Given the description of an element on the screen output the (x, y) to click on. 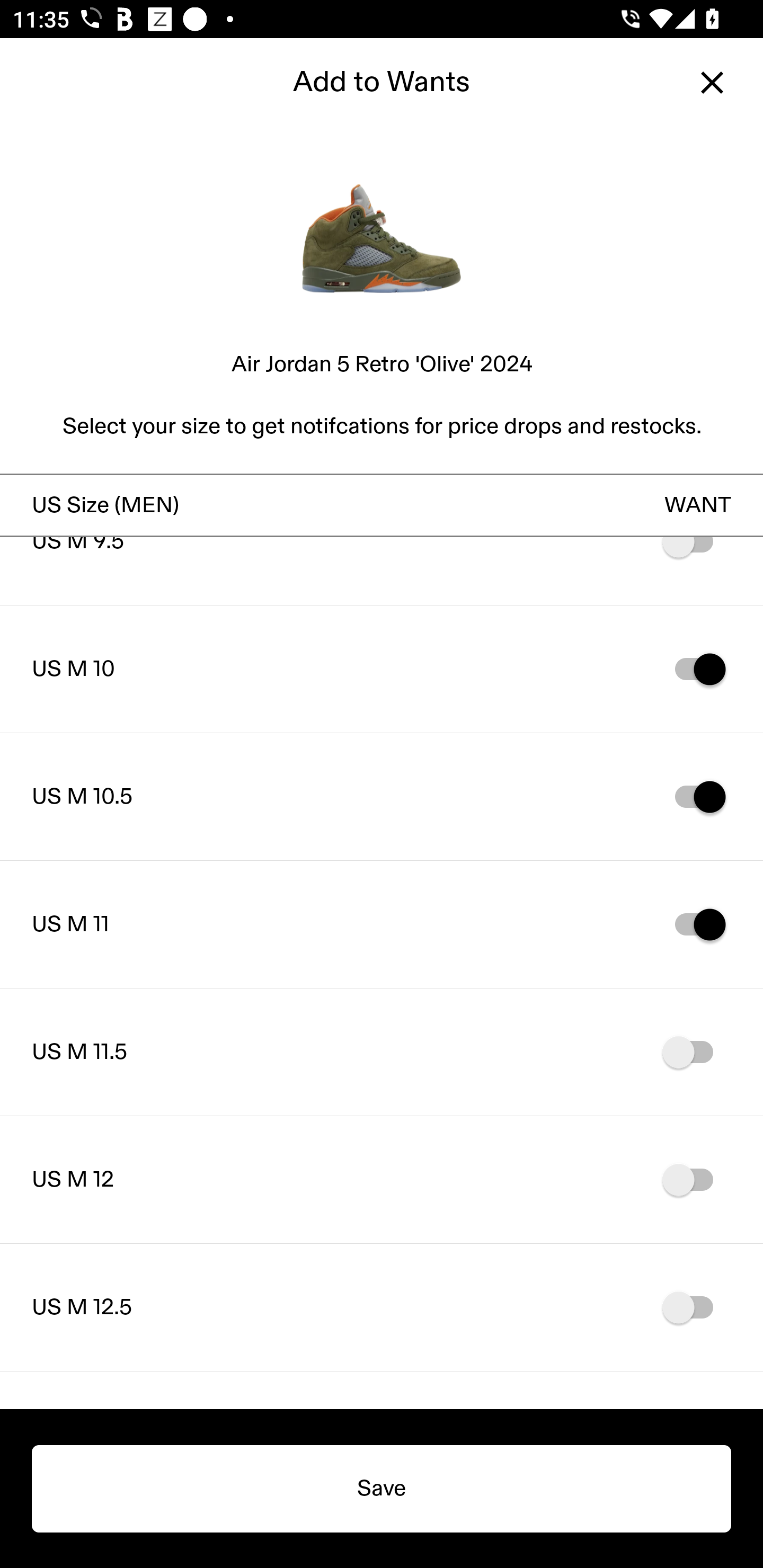
Save (381, 1488)
